Given the description of an element on the screen output the (x, y) to click on. 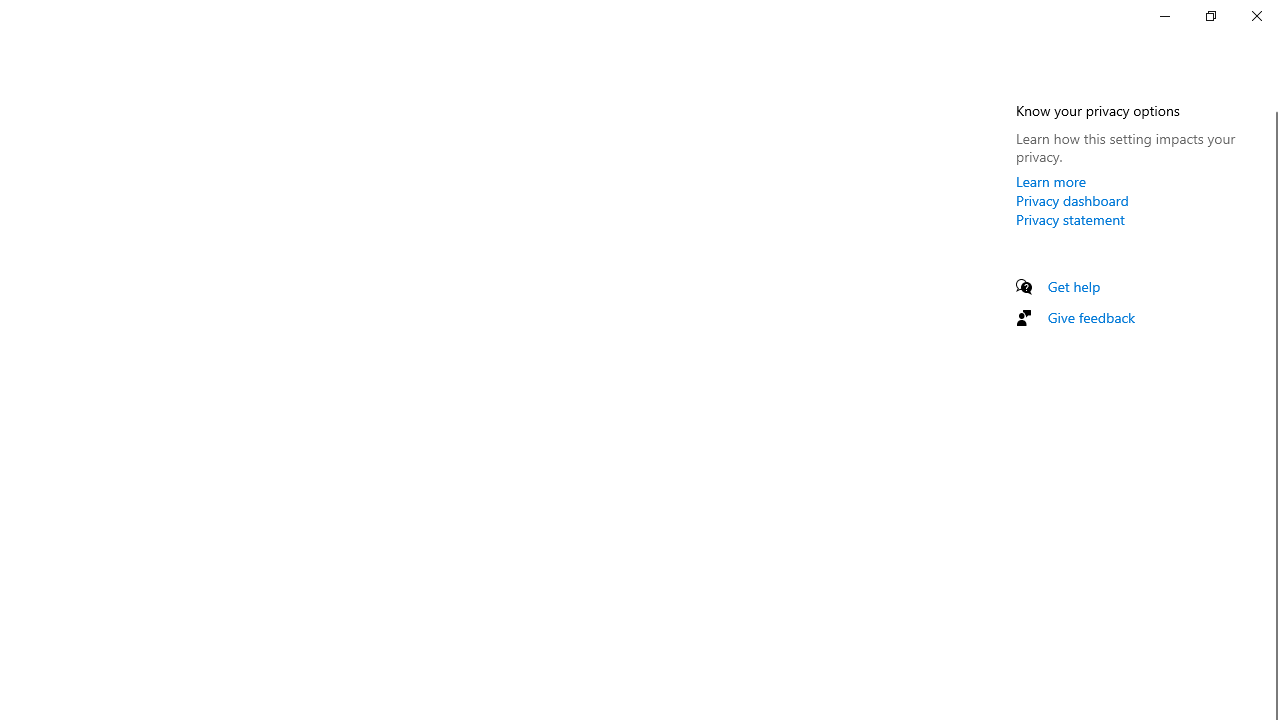
Learn more (1051, 181)
Minimize Settings (1164, 15)
Get help (1074, 286)
Give feedback (1091, 317)
Restore Settings (1210, 15)
Privacy dashboard (1072, 200)
Privacy statement (1070, 219)
Close Settings (1256, 15)
Vertical Small Decrease (1272, 103)
